Given the description of an element on the screen output the (x, y) to click on. 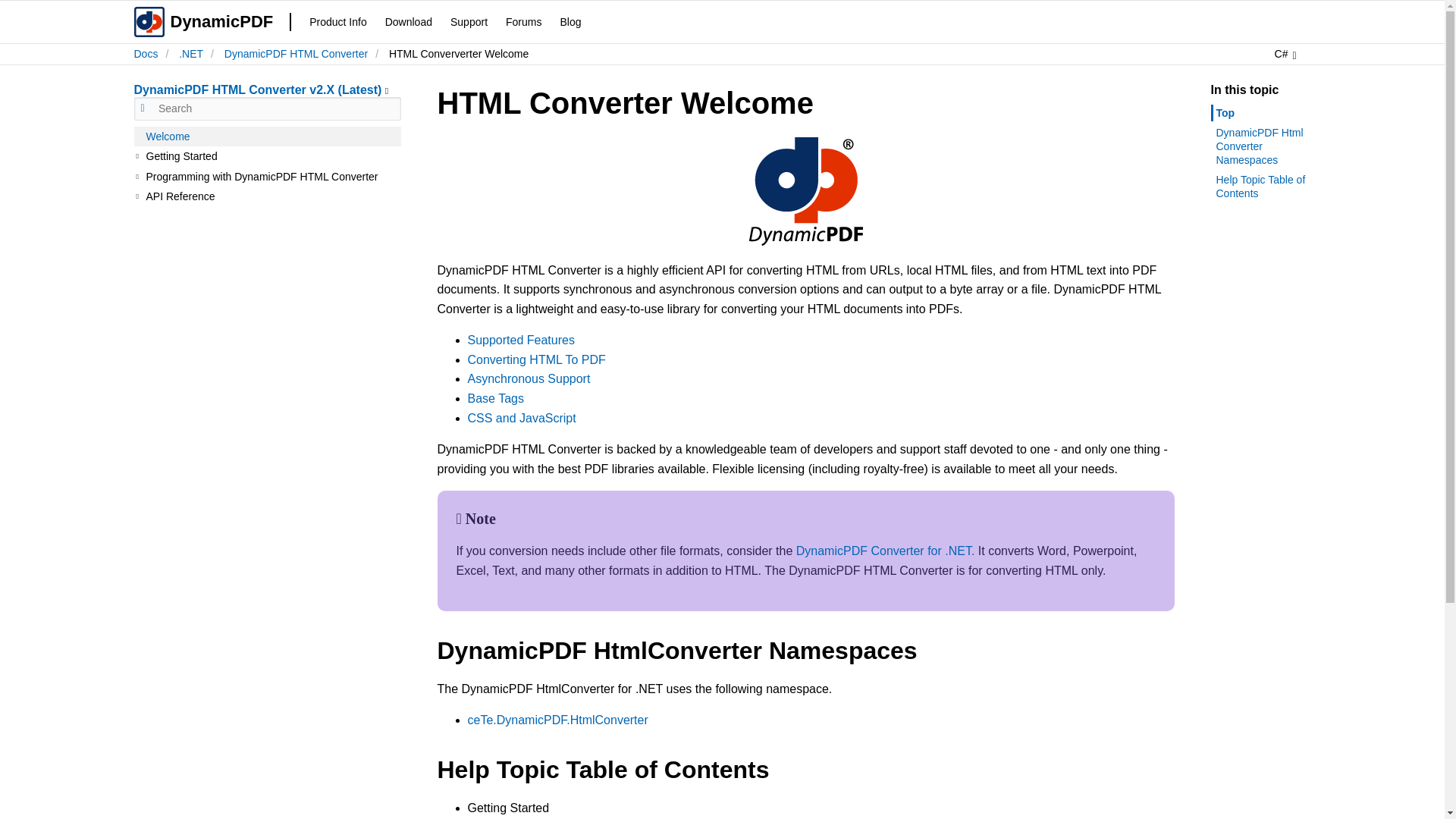
Welcome (266, 136)
DynamicPDF (206, 21)
Docs (145, 53)
Forums (523, 21)
Download (408, 21)
.NET (191, 53)
DynamicPDF HTML Converter (296, 53)
Blog (569, 21)
Product Info (337, 21)
Support (468, 21)
